Given the description of an element on the screen output the (x, y) to click on. 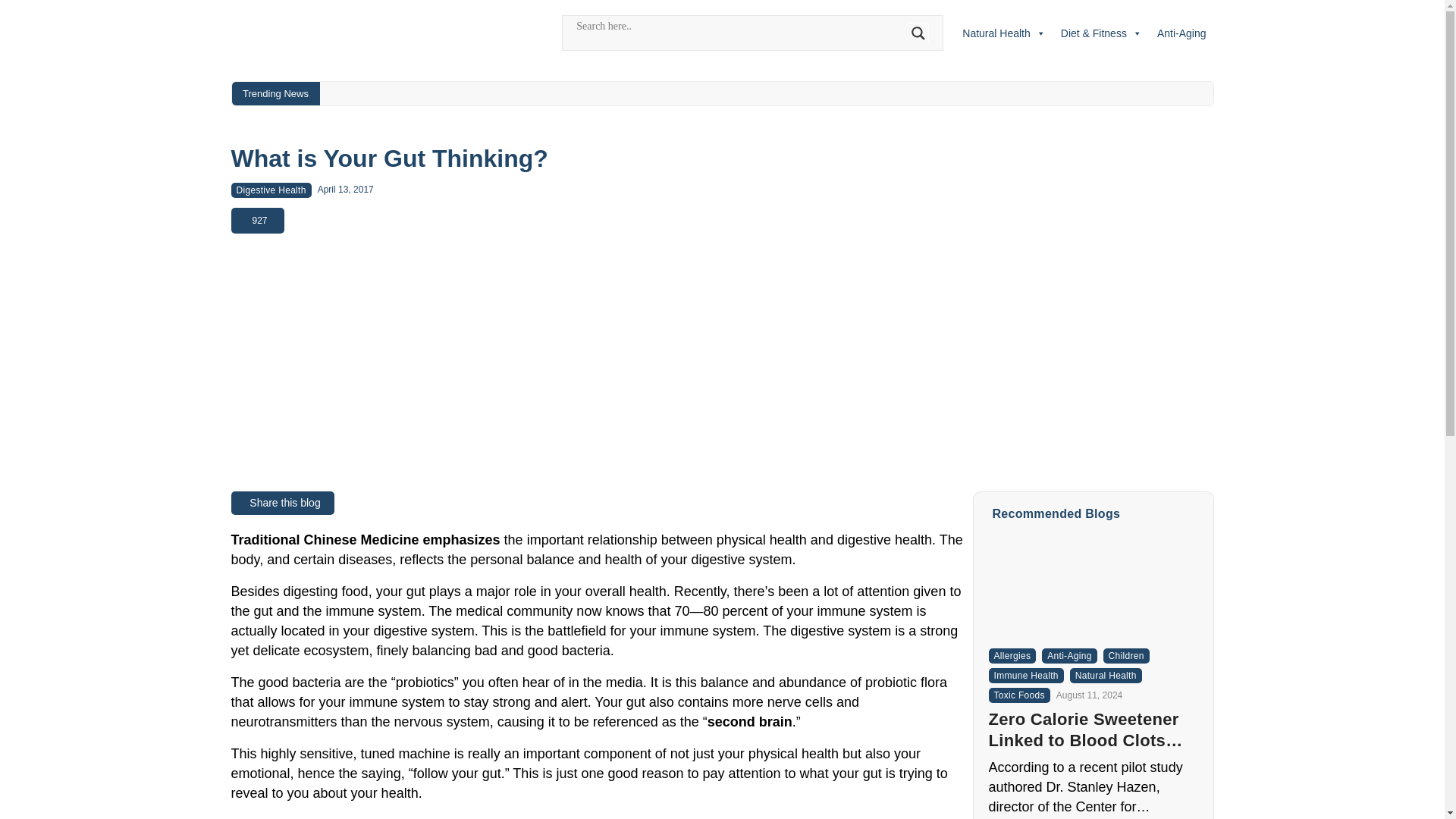
Natural Health (1003, 33)
Allergies (1012, 655)
Anti-Aging (1182, 33)
Trending News (275, 93)
Digestive Health (270, 190)
